Given the description of an element on the screen output the (x, y) to click on. 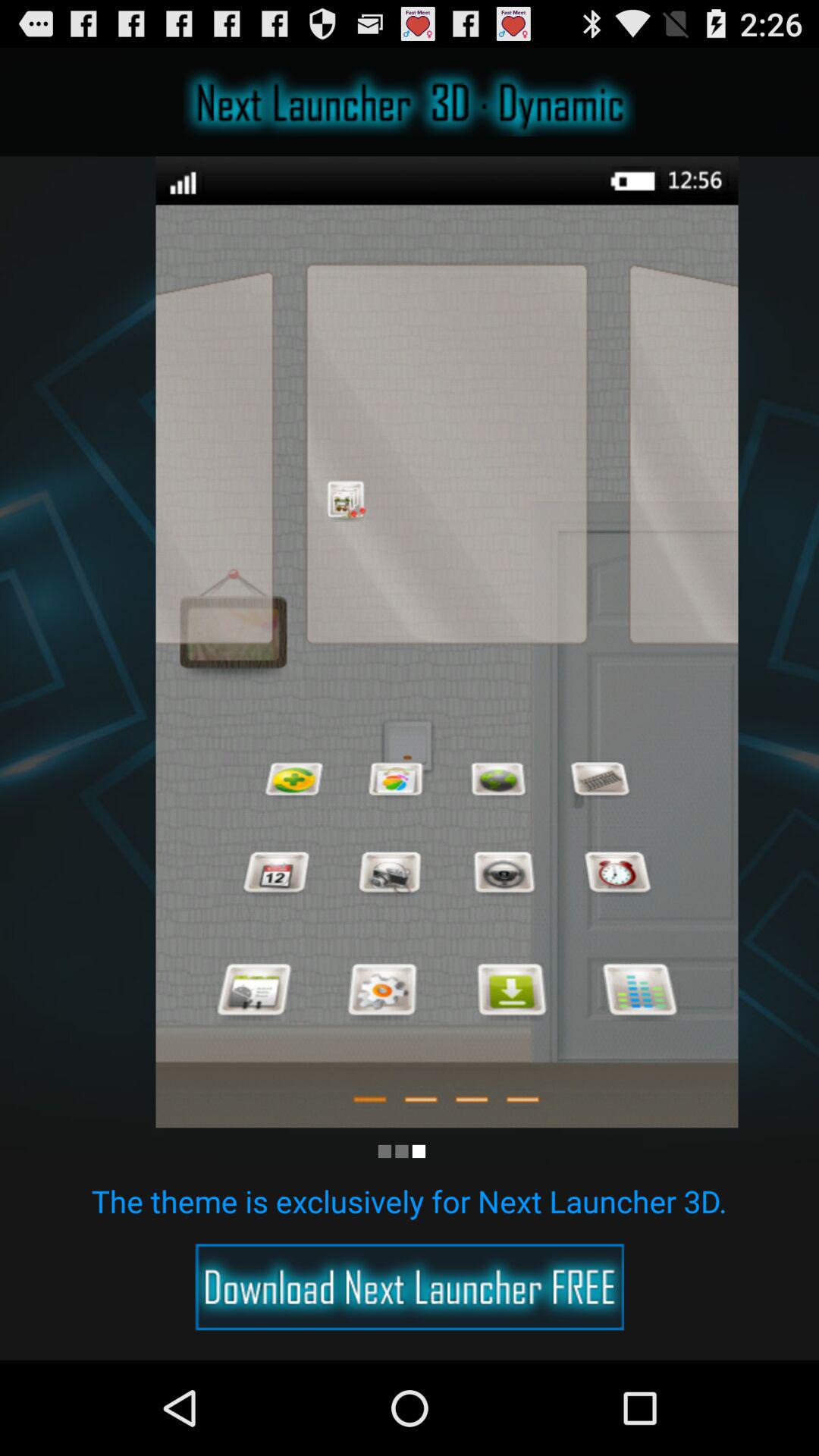
download the shown launcher (409, 1286)
